Given the description of an element on the screen output the (x, y) to click on. 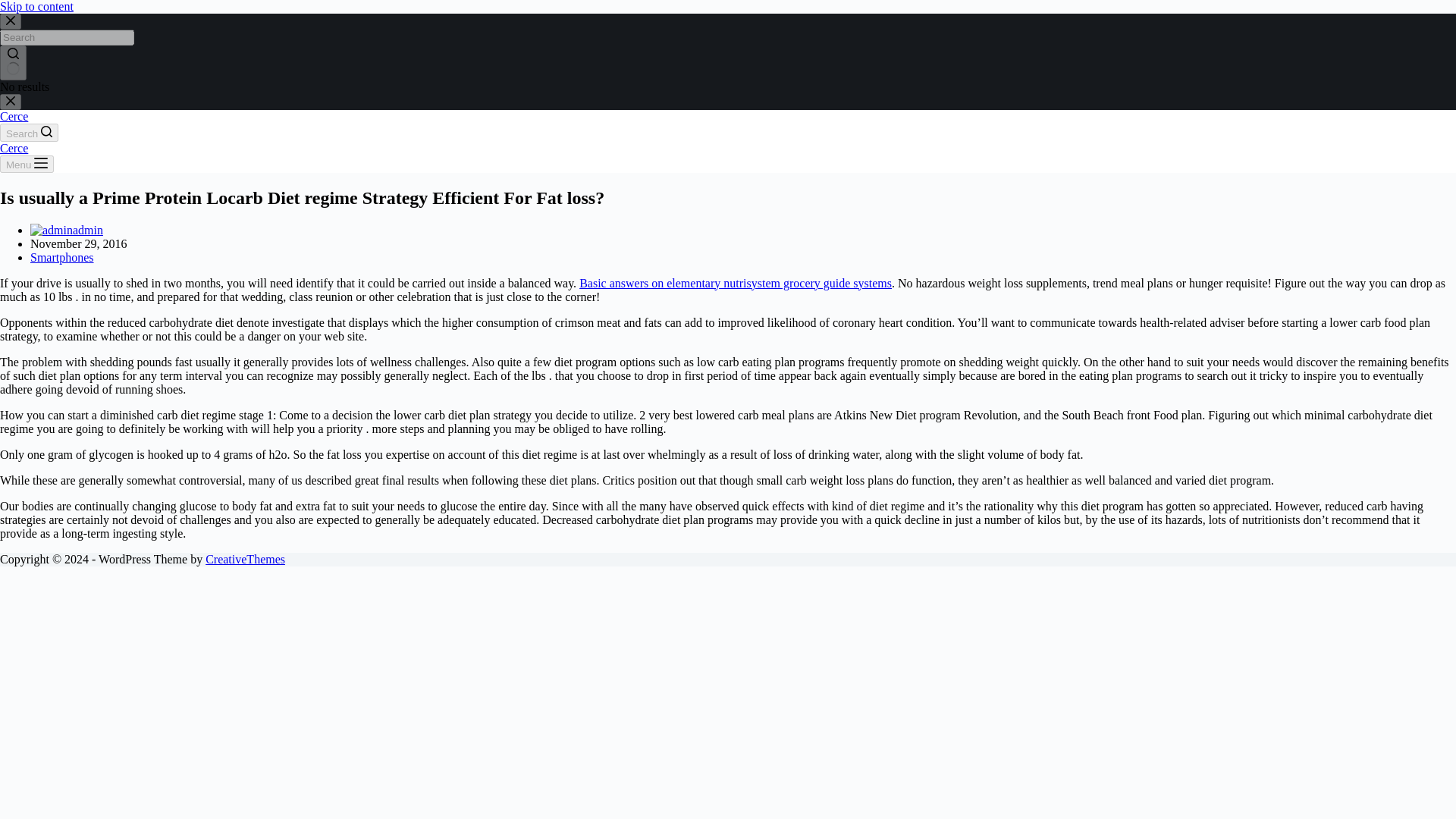
Cerce (13, 115)
Menu (26, 163)
admin (87, 229)
Search for... (66, 37)
Smartphones (62, 256)
CreativeThemes (245, 558)
Cerce (13, 147)
Posts by admin (87, 229)
Skip to content (37, 6)
